Given the description of an element on the screen output the (x, y) to click on. 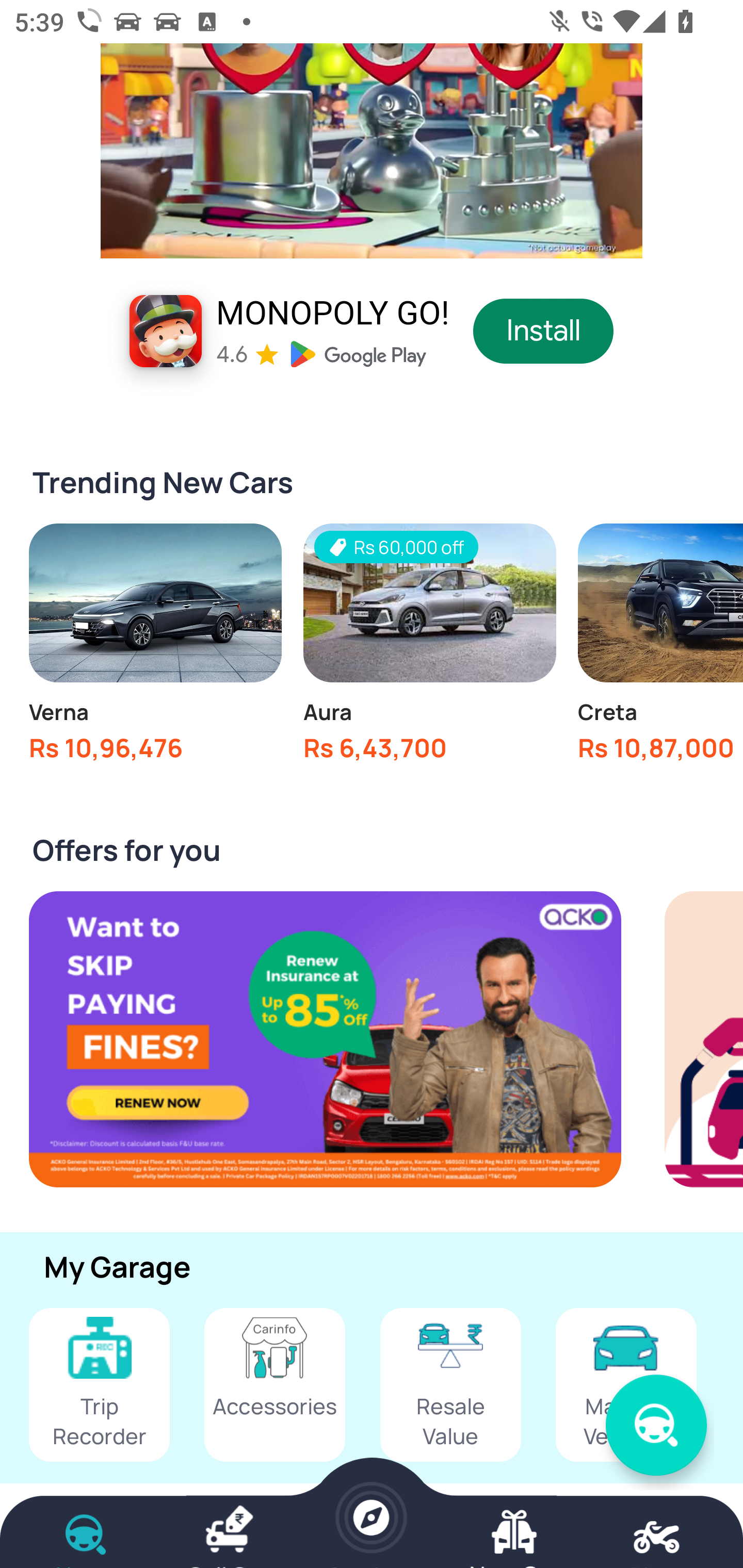
Install (543, 331)
Verna Rs 10,96,476 onwards (154, 647)
Rs 60,000 off Aura Rs 6,43,700 onwards (429, 647)
Creta Rs 10,87,000 onwards (660, 647)
Trip Recorder (98, 1384)
Accessories (274, 1384)
Resale
Value (450, 1384)
Manage
Vehicles (625, 1384)
